Given the description of an element on the screen output the (x, y) to click on. 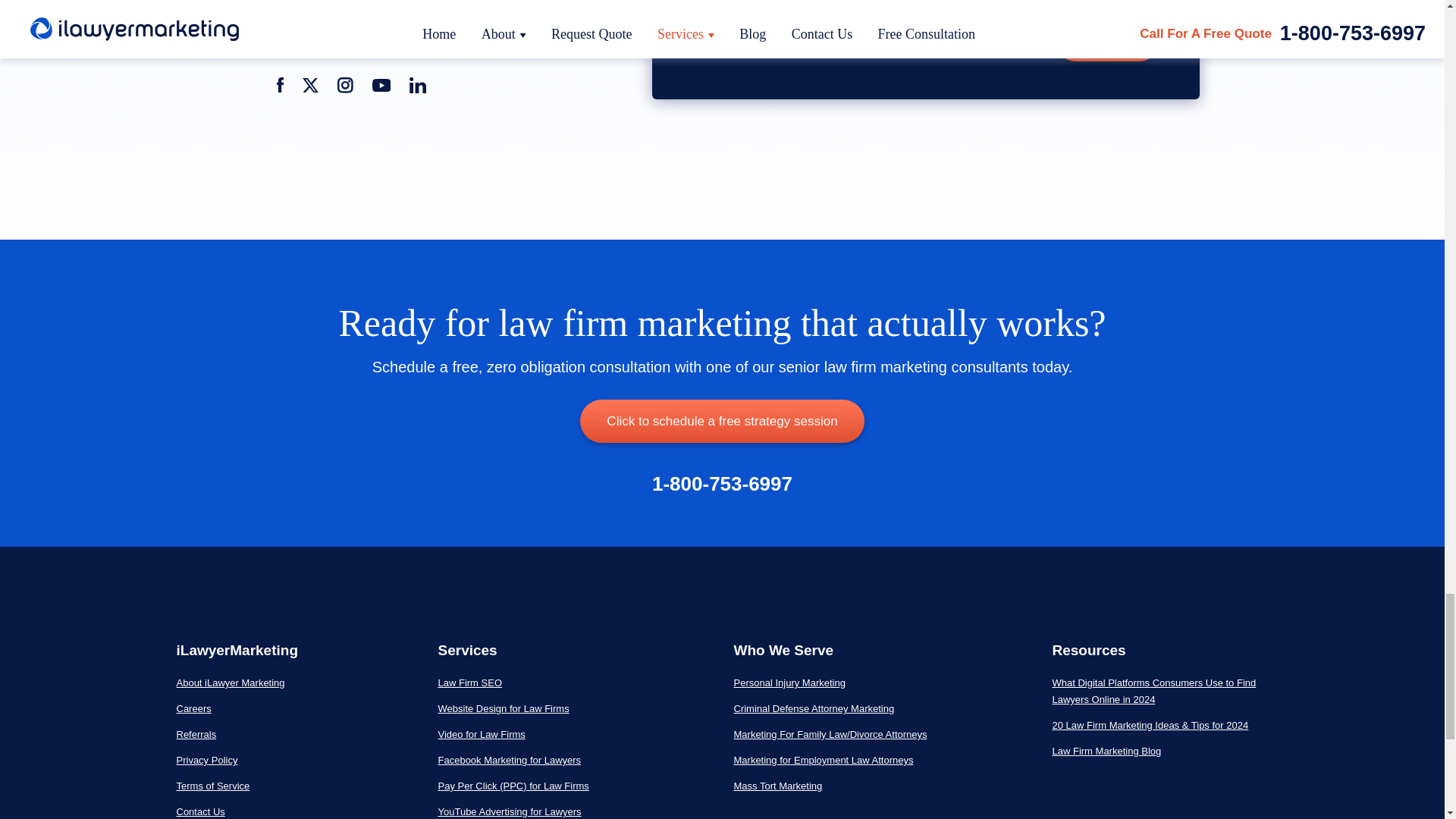
Next (1104, 40)
